Given the description of an element on the screen output the (x, y) to click on. 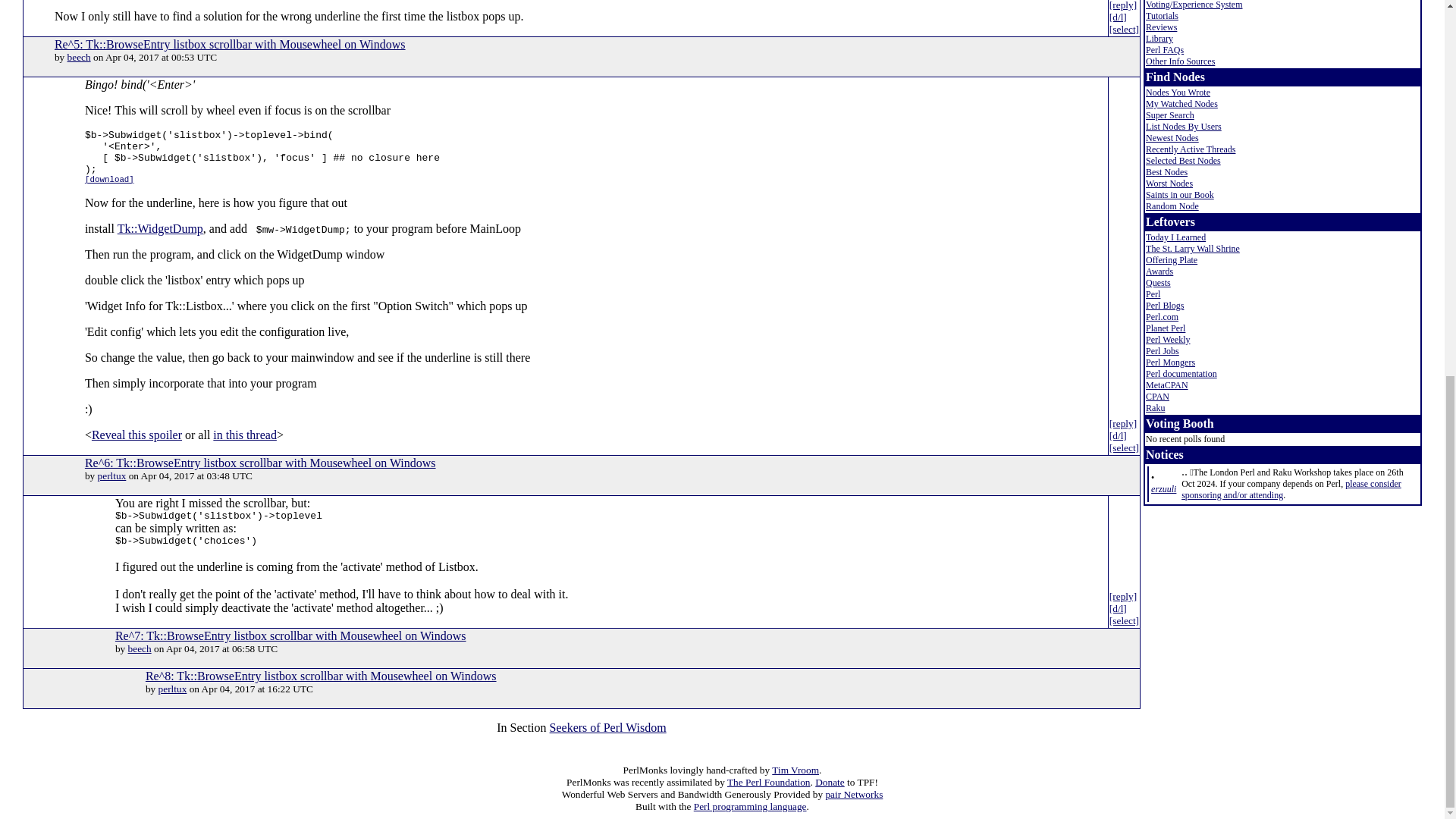
2024-05-30 14:23:36 (1163, 489)
